Given the description of an element on the screen output the (x, y) to click on. 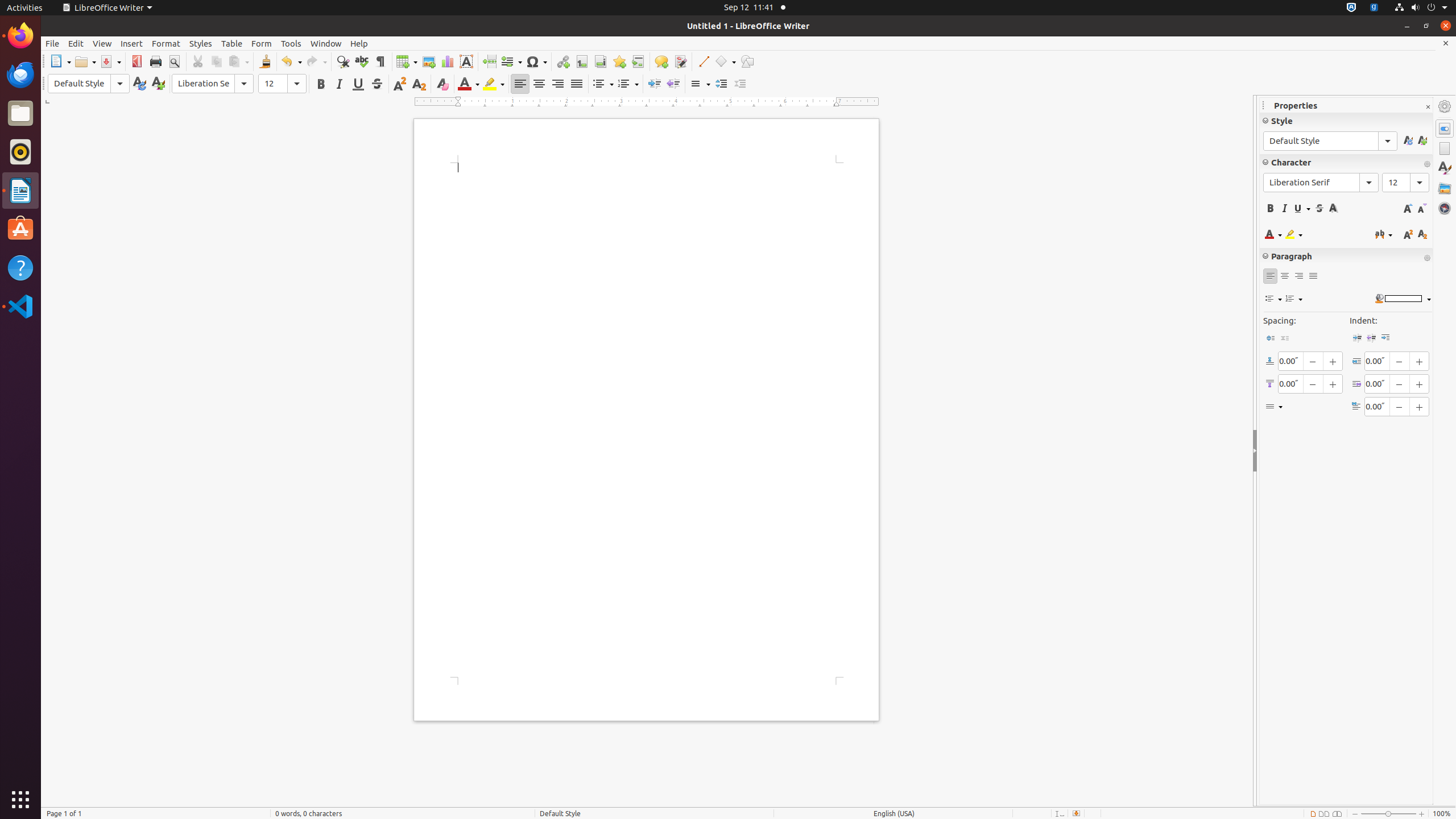
Properties Element type: radio-button (1444, 128)
Strikethrough Element type: toggle-button (376, 83)
Left Element type: toggle-button (519, 83)
Comment Element type: push-button (660, 61)
Subscript Element type: toggle-button (418, 83)
